Given the description of an element on the screen output the (x, y) to click on. 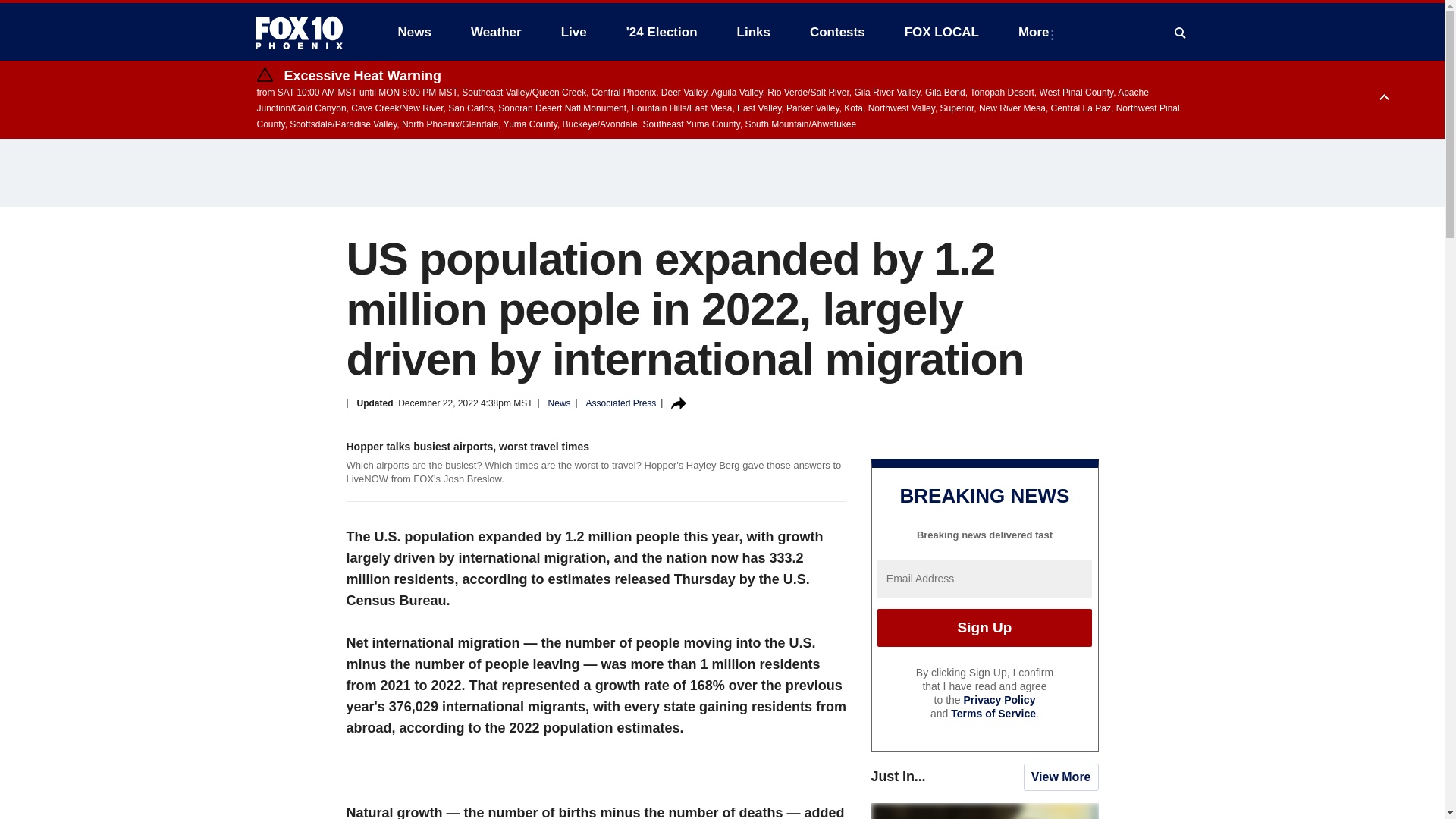
Links (754, 32)
Sign Up (984, 628)
More (1036, 32)
FOX LOCAL (941, 32)
News (413, 32)
Weather (496, 32)
Live (573, 32)
'24 Election (662, 32)
Contests (837, 32)
